Given the description of an element on the screen output the (x, y) to click on. 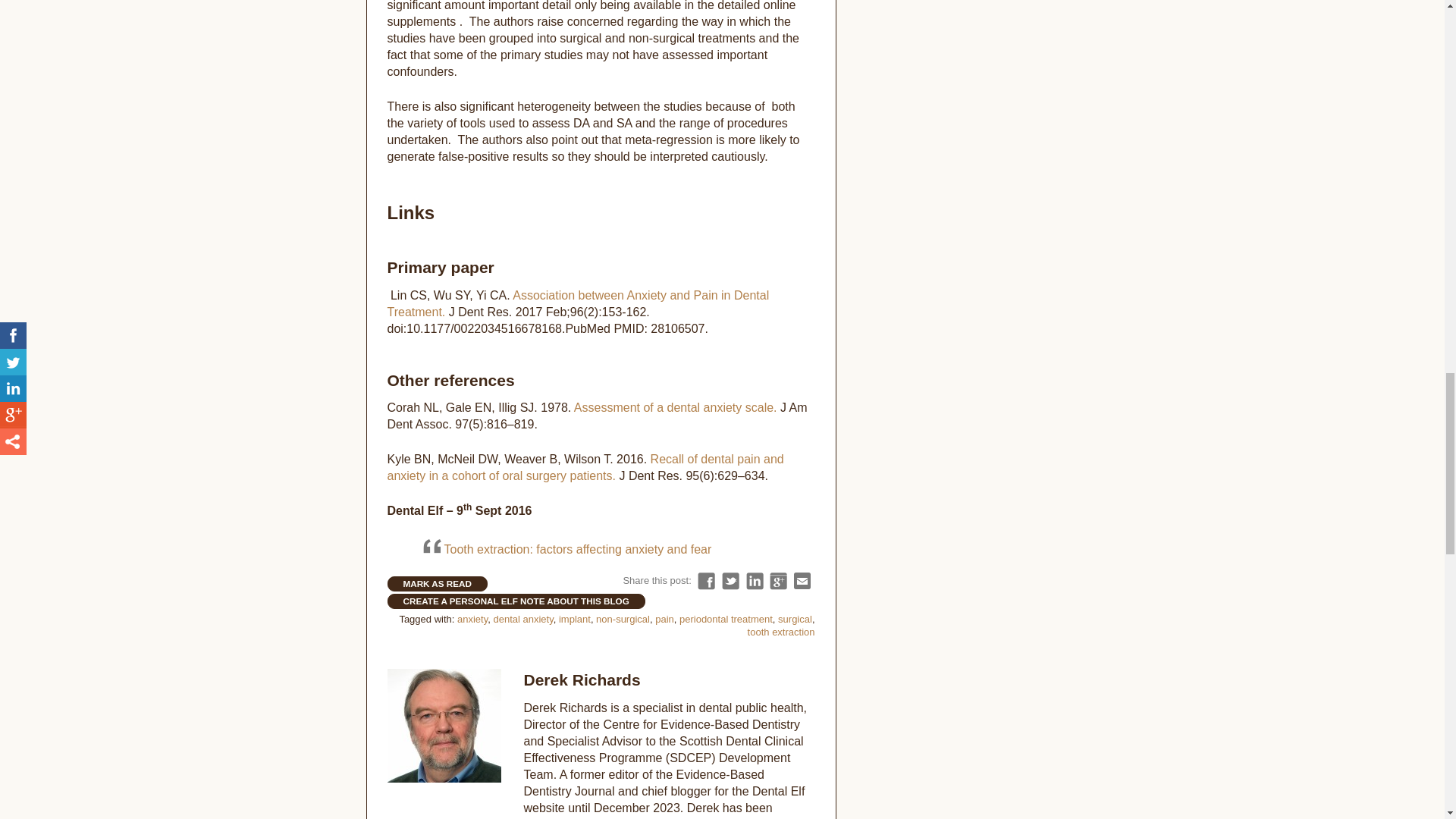
Share via email (801, 580)
Derek Richards (581, 679)
Share on Facebook (705, 580)
Tweet this on Twitter (730, 580)
Share on LinkedIn (753, 580)
